Given the description of an element on the screen output the (x, y) to click on. 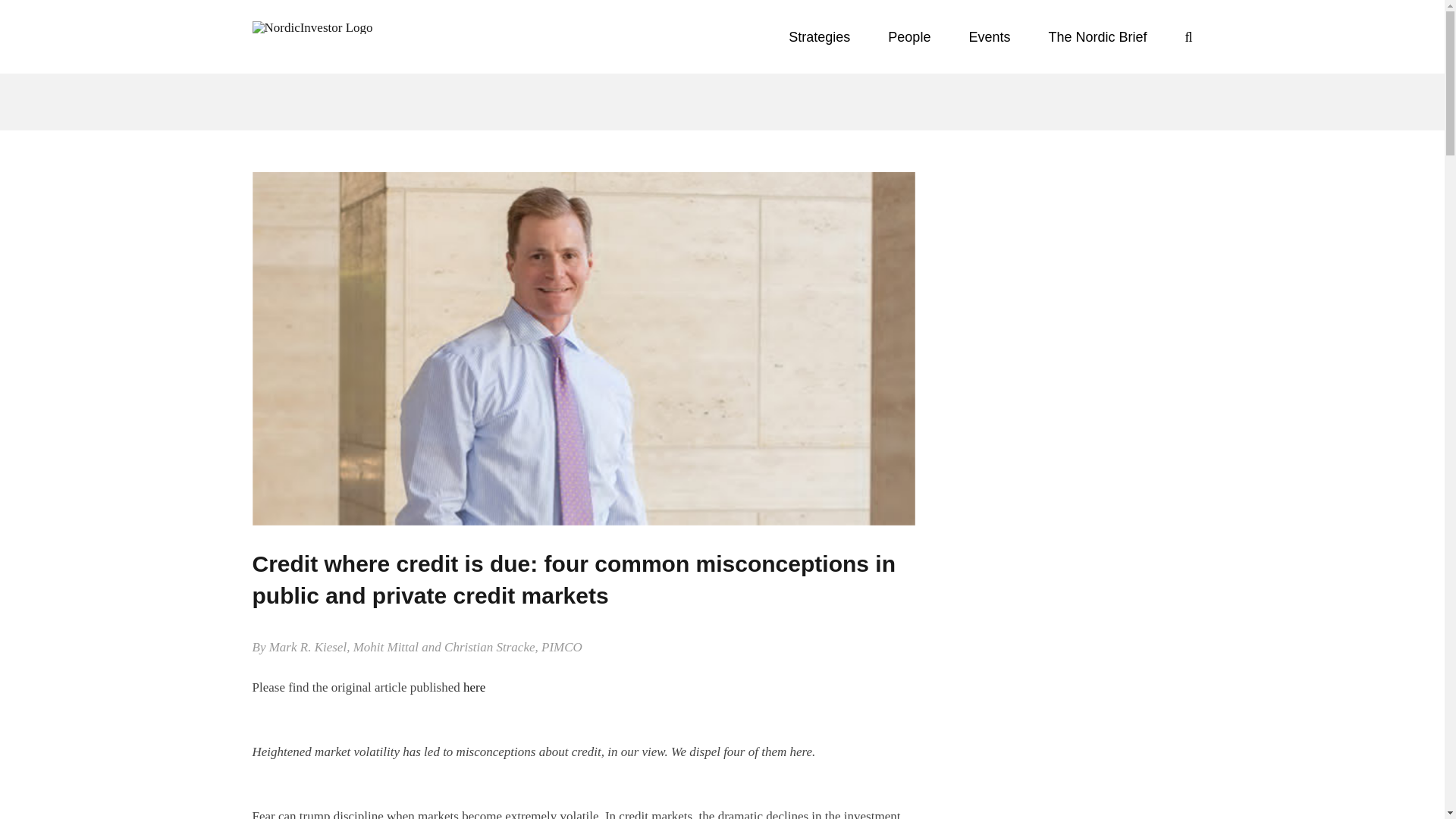
The Nordic Brief (1097, 36)
here (473, 687)
